Given the description of an element on the screen output the (x, y) to click on. 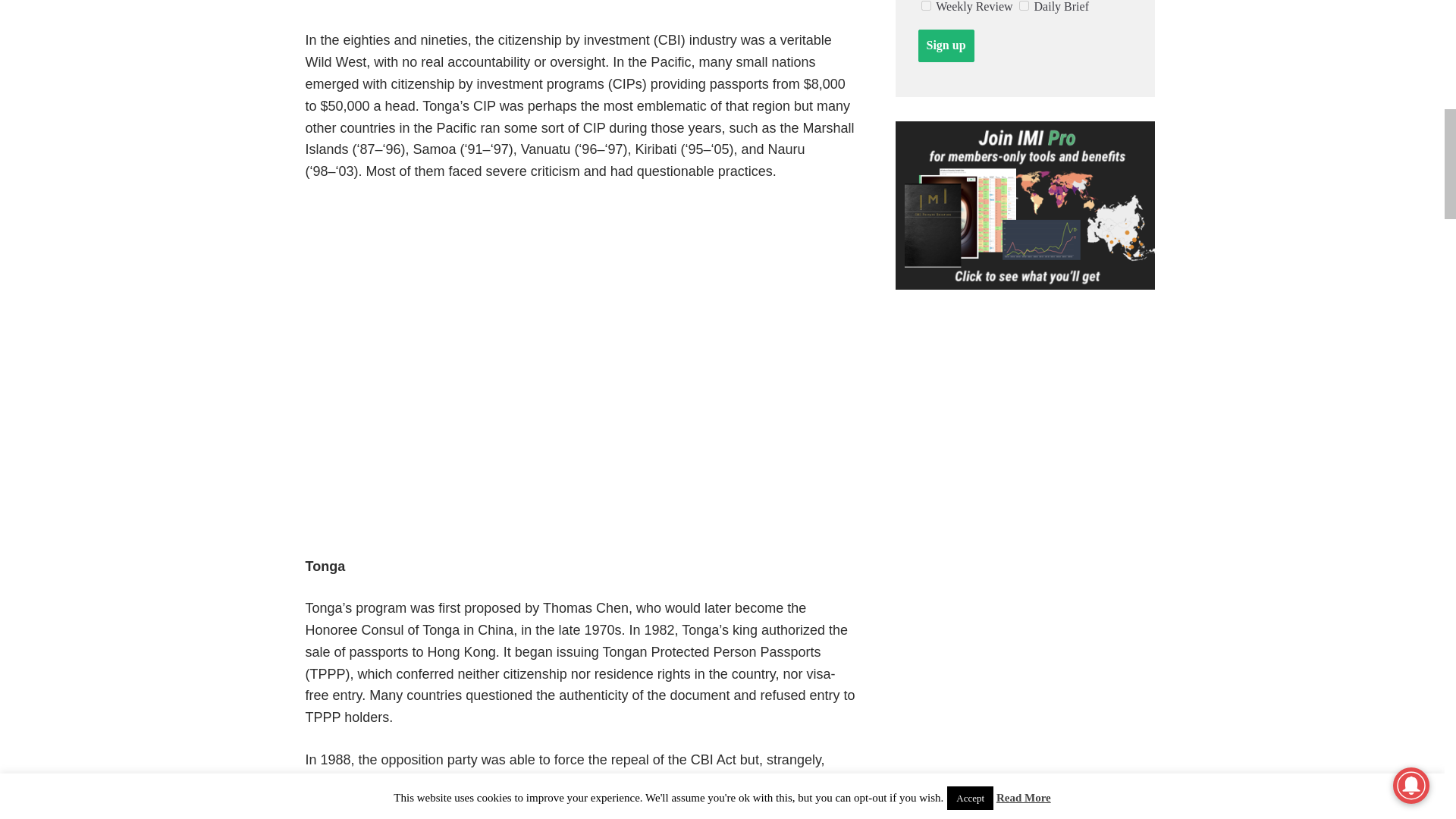
24b73734dd (925, 5)
Sign up (945, 45)
2ad59d2504 (1024, 5)
